Given the description of an element on the screen output the (x, y) to click on. 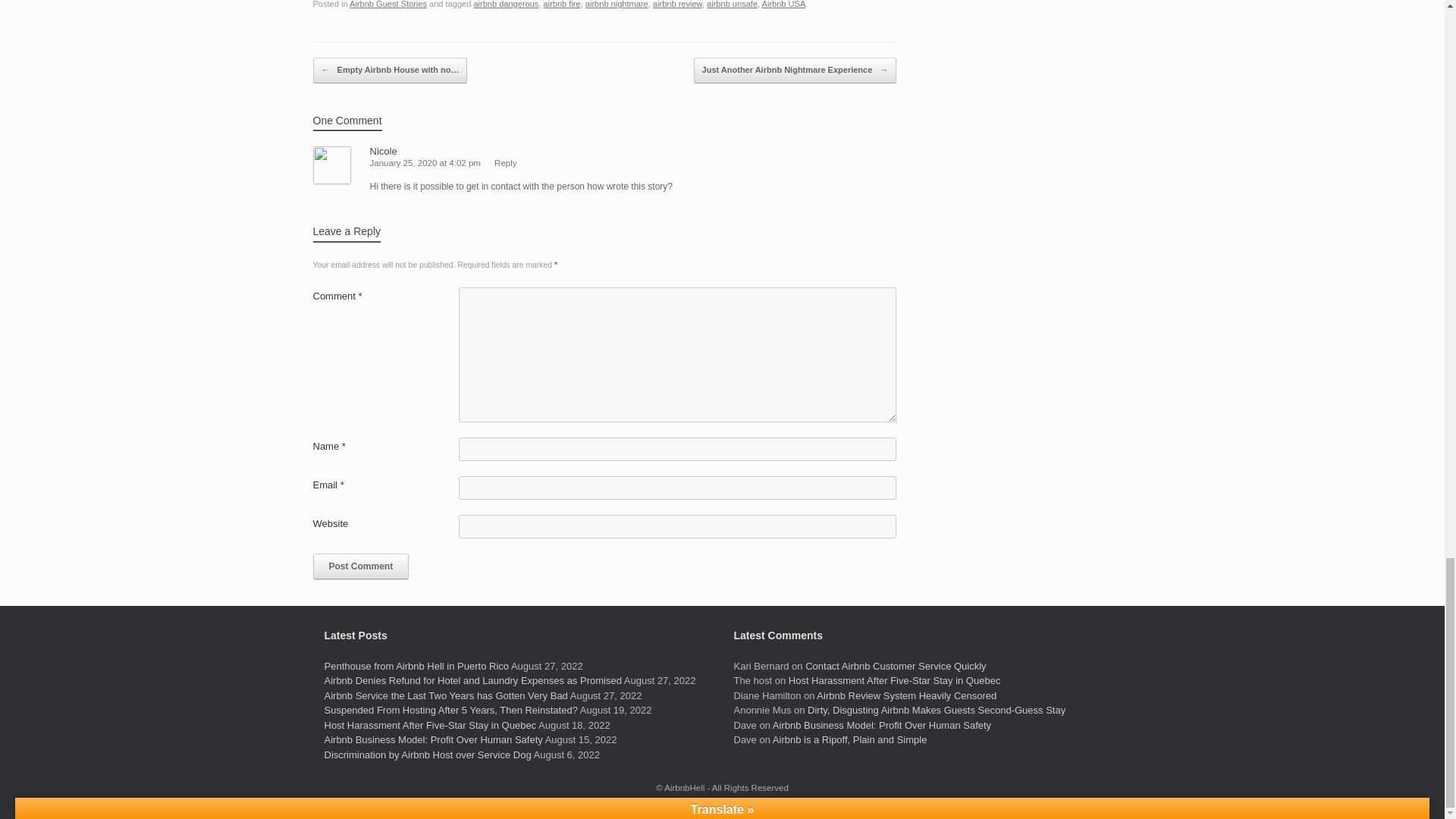
Post Comment (361, 566)
January 25, 2020 at 4:02 pm (424, 162)
airbnb review (676, 4)
airbnb dangerous (505, 4)
airbnb fire (561, 4)
Reply (505, 162)
airbnb unsafe (731, 4)
Airbnb USA (783, 4)
Airbnb Guest Stories (387, 4)
airbnb nightmare (616, 4)
